Given the description of an element on the screen output the (x, y) to click on. 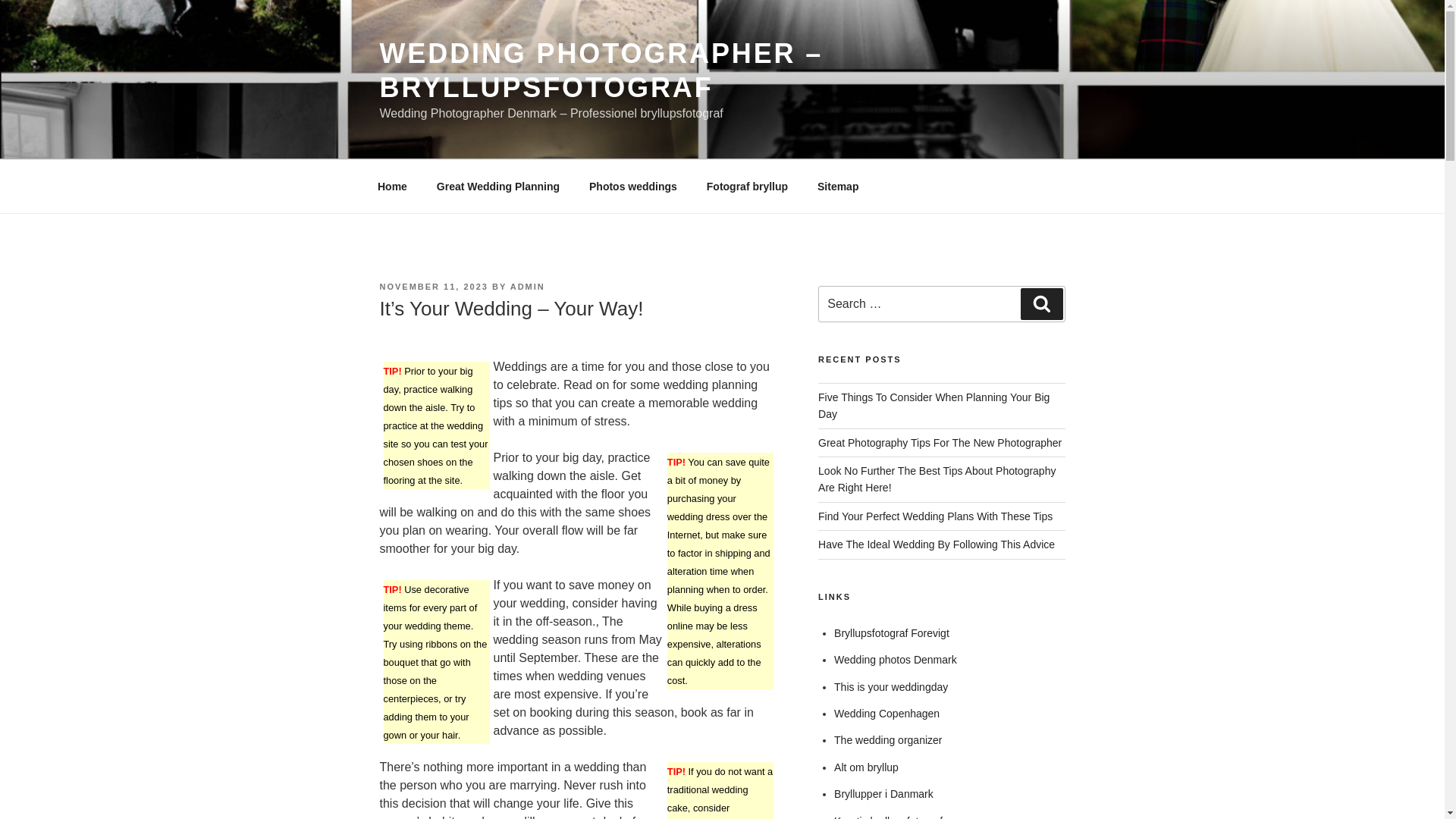
Bryllupper i Danmark (883, 793)
The wedding organizer (888, 739)
Five Things To Consider When Planning Your Big Day (933, 405)
Alt om bryllup (866, 767)
Wedding Copenhagen (886, 713)
ADMIN (527, 286)
Great Wedding Planning (497, 186)
Great Photography Tips For The New Photographer (939, 442)
Kreativ bryllupsfotograf (888, 816)
Bryllupsfotograf Forevigt (891, 633)
Photos weddings (633, 186)
This is your weddingday (890, 686)
Have The Ideal Wedding By Following This Advice (936, 544)
NOVEMBER 11, 2023 (432, 286)
Find Your Perfect Wedding Plans With These Tips (935, 516)
